Given the description of an element on the screen output the (x, y) to click on. 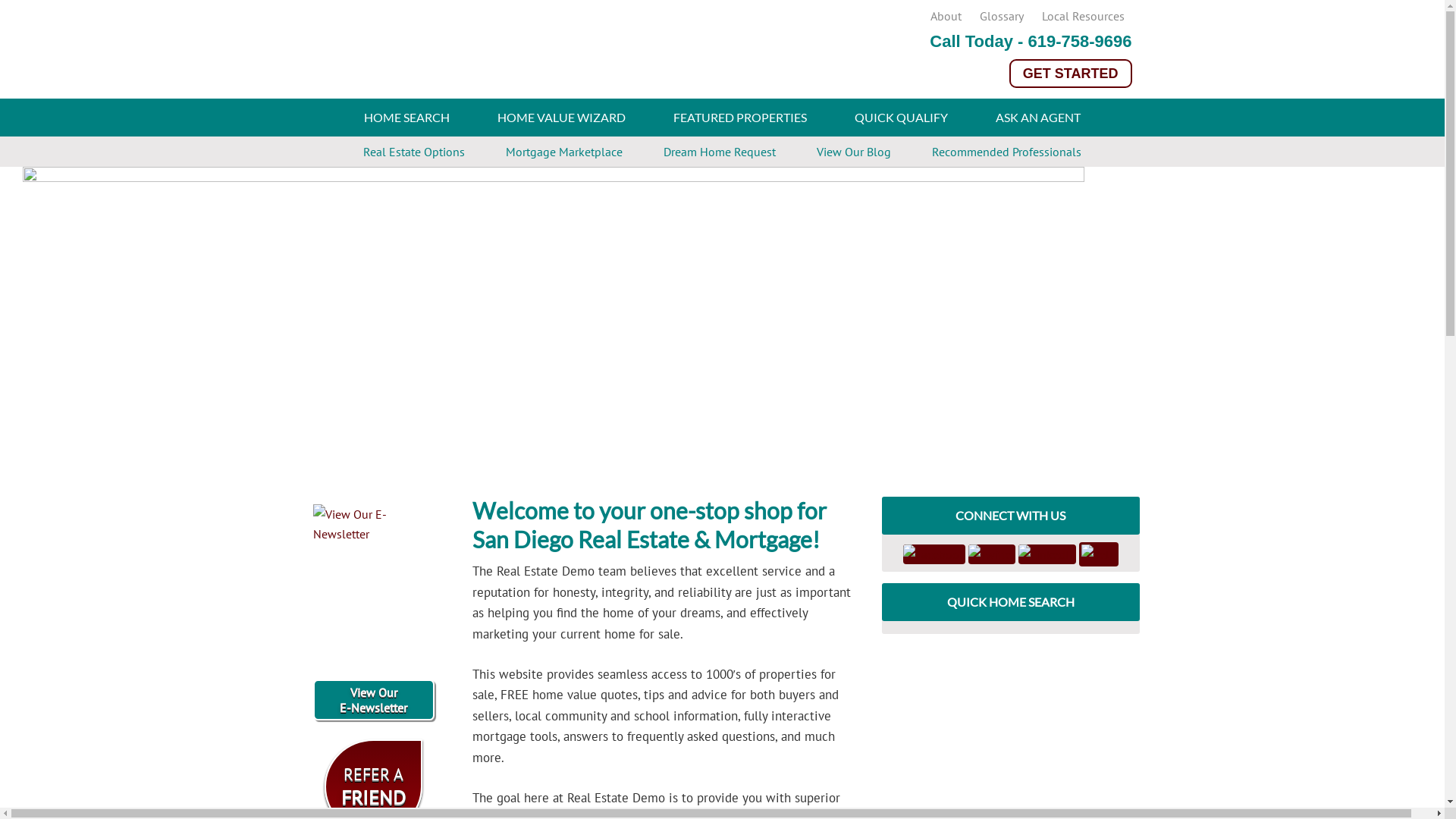
619-758-9696 Element type: text (1079, 40)
Real Estate Options Element type: text (413, 151)
ASK AN AGENT Element type: text (1037, 117)
View Our
E-Newsletter Element type: text (372, 699)
Mortgage Marketplace Element type: text (563, 151)
FEATURED PROPERTIES Element type: text (739, 117)
Dream Home Request Element type: text (719, 151)
GET STARTED Element type: text (1070, 73)
Glossary Element type: text (1001, 15)
HOME SEARCH Element type: text (406, 117)
Real Estate Demo Element type: text (463, 52)
HOME VALUE WIZARD Element type: text (561, 117)
About Element type: text (945, 15)
Local Resources Element type: text (1083, 15)
QUICK QUALIFY Element type: text (900, 117)
Recommended Professionals Element type: text (1006, 151)
View Our Blog Element type: text (853, 151)
